Given the description of an element on the screen output the (x, y) to click on. 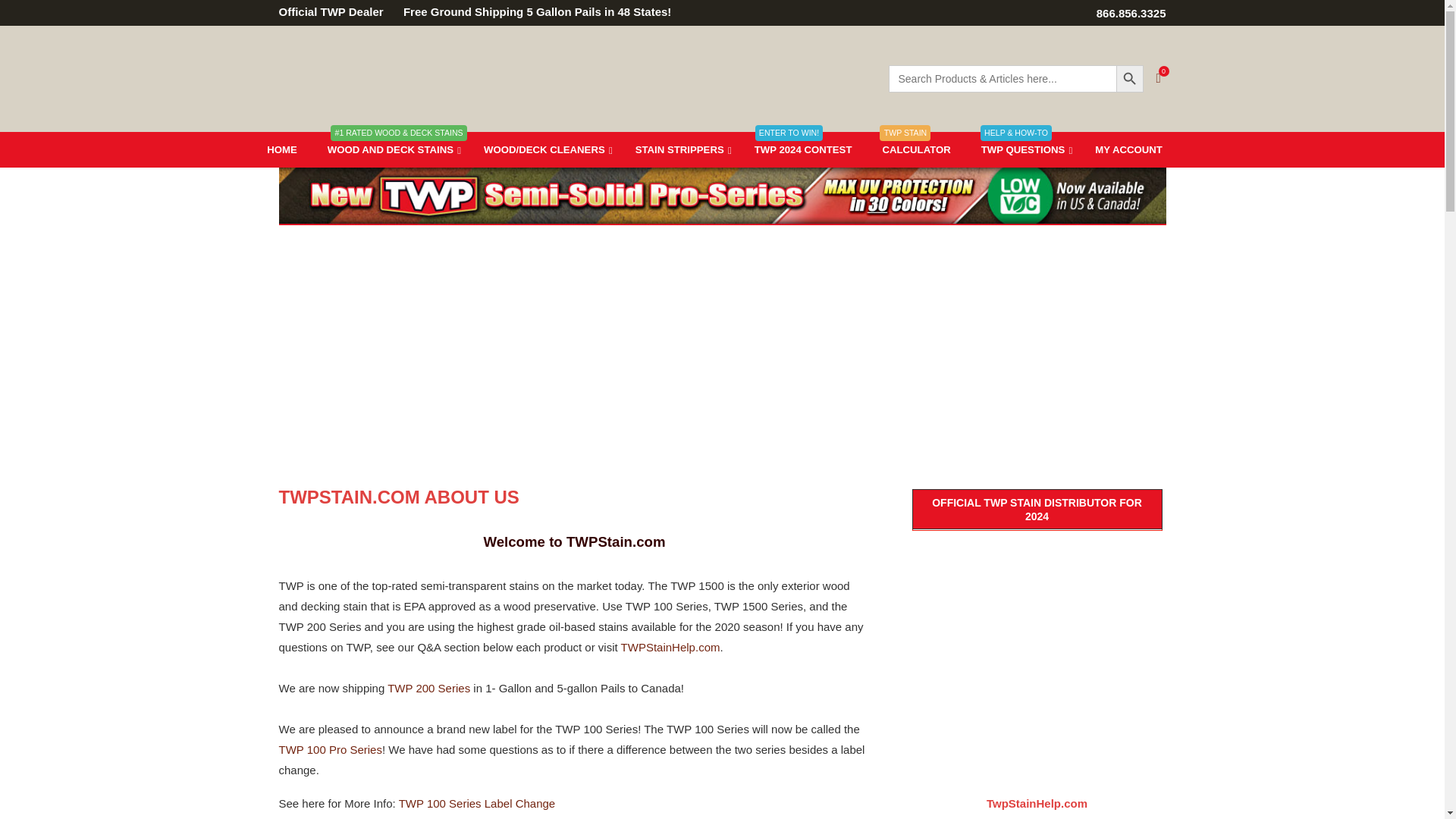
Free Ground Shipping 5 Gallon Pails in 48 States! (556, 11)
0 (1158, 78)
HOME (282, 149)
SEARCH BUTTON (1129, 78)
866.856.3325 (1131, 11)
View your shopping cart (1158, 78)
